Given the description of an element on the screen output the (x, y) to click on. 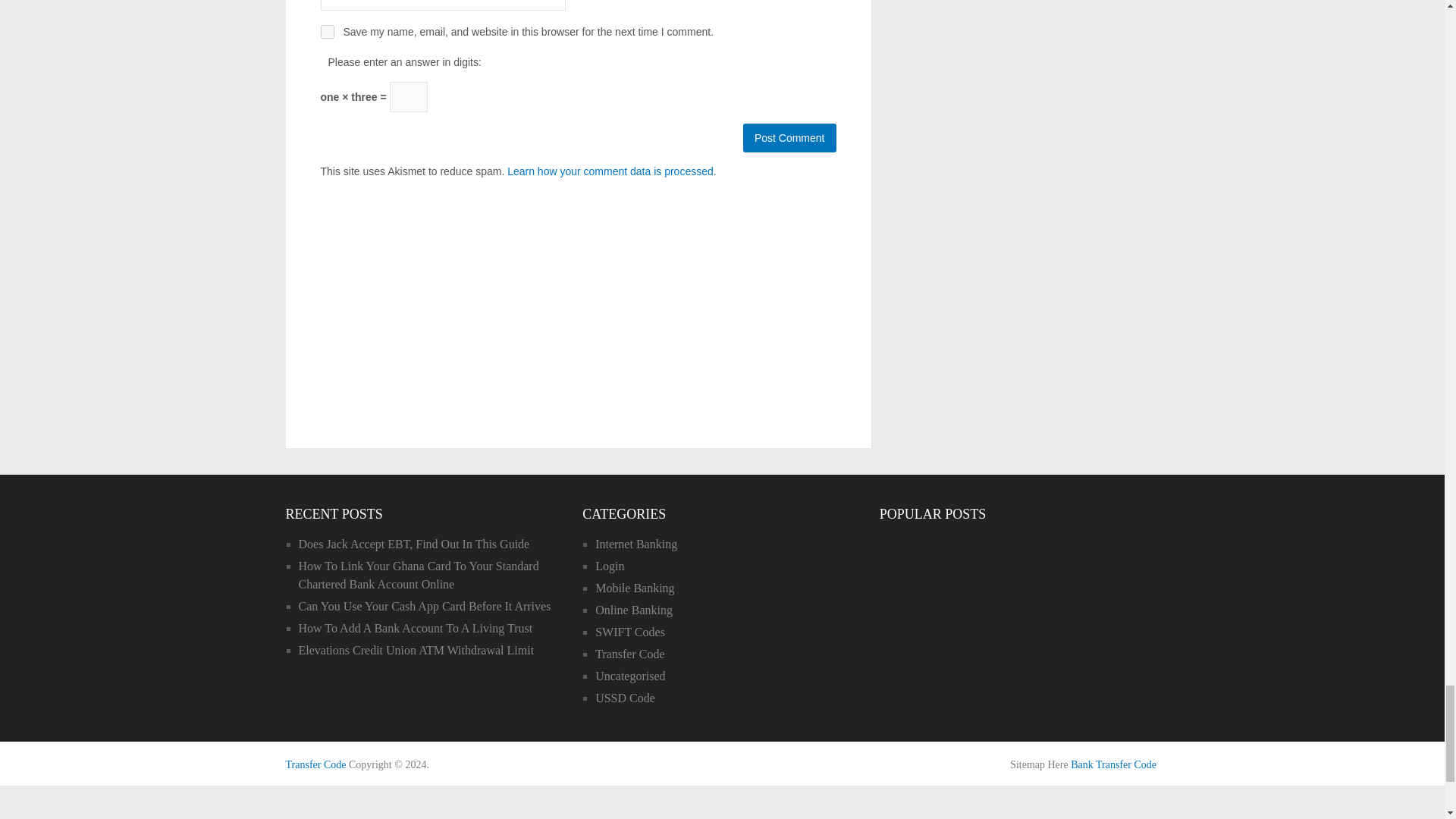
Post Comment (788, 137)
yes (326, 31)
